Given the description of an element on the screen output the (x, y) to click on. 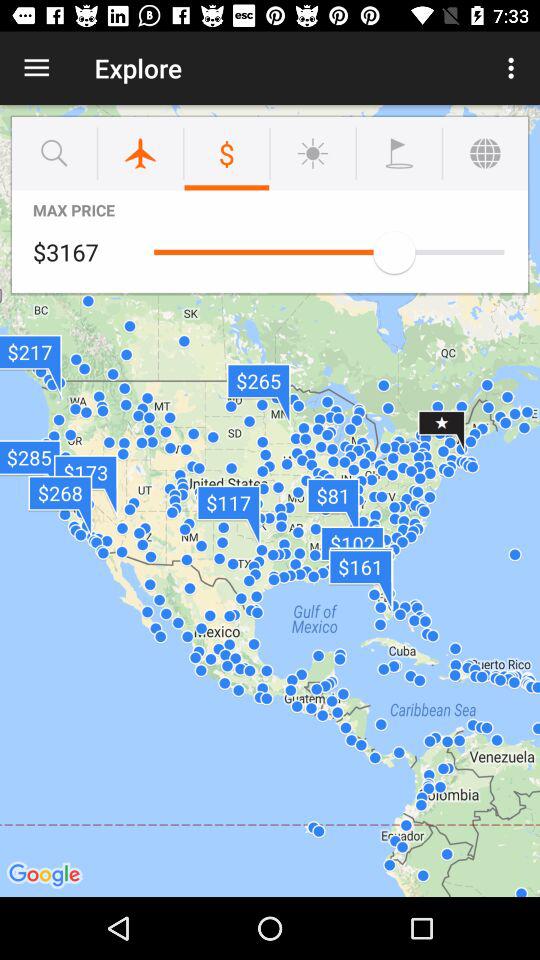
choose icon to the right of explore (513, 67)
